Given the description of an element on the screen output the (x, y) to click on. 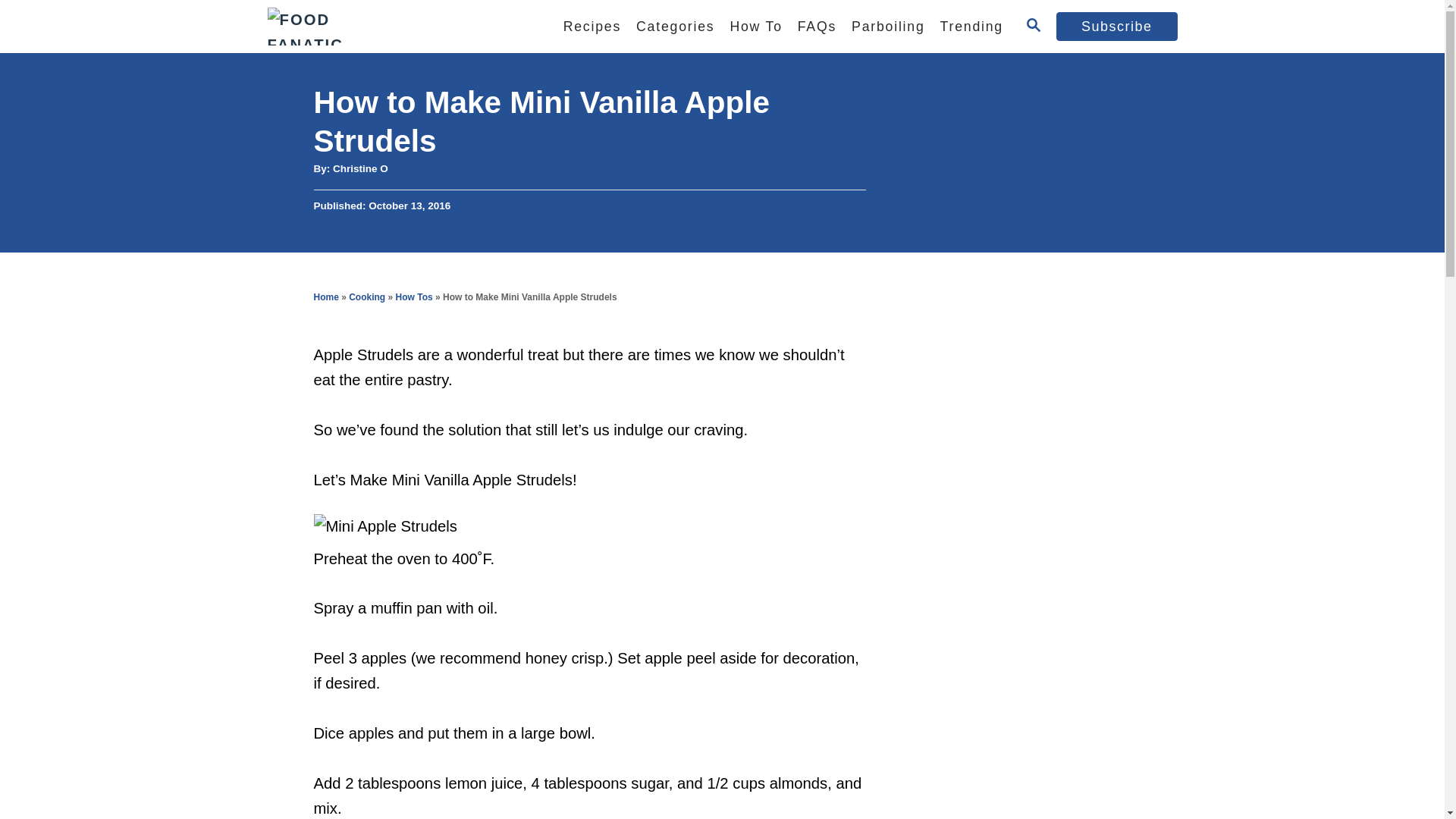
Food Fanatic (395, 26)
Categories (675, 26)
How To (755, 26)
FAQs (817, 26)
Recipes (592, 26)
SEARCH (1033, 26)
